Given the description of an element on the screen output the (x, y) to click on. 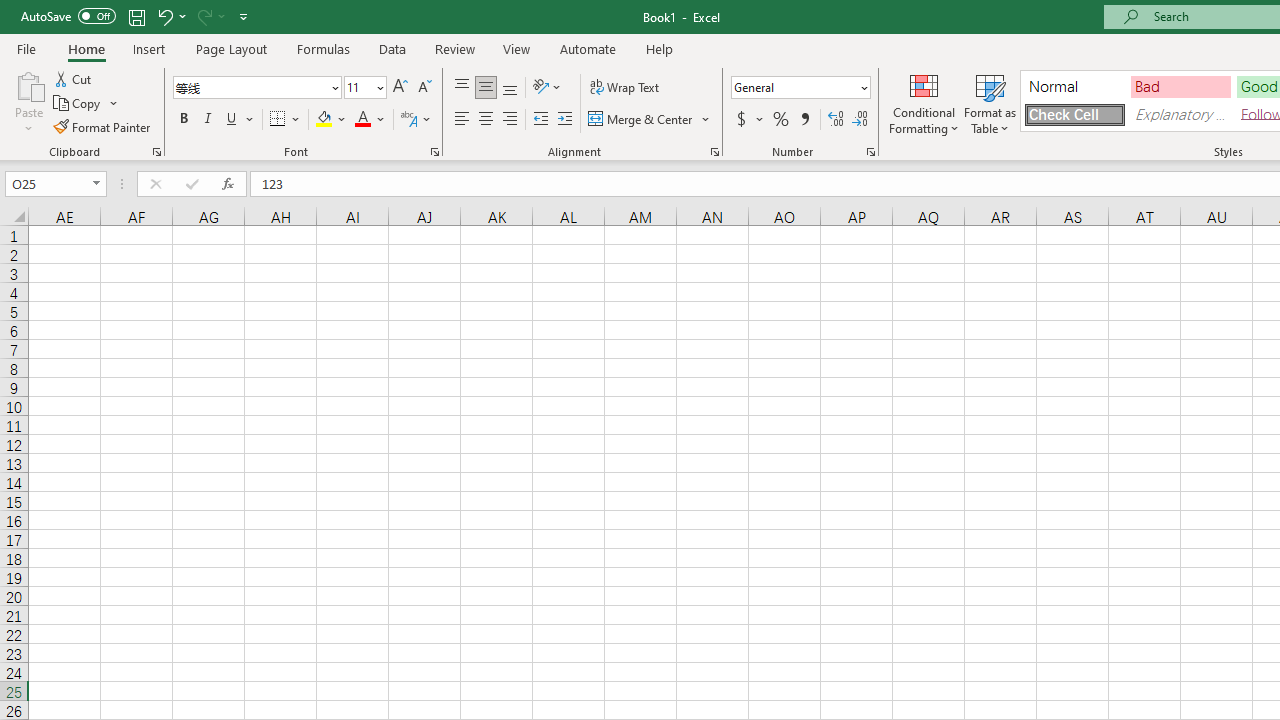
Paste (28, 84)
Align Right (509, 119)
Accounting Number Format (749, 119)
Center (485, 119)
Format as Table (990, 102)
Increase Decimal (836, 119)
Merge & Center (649, 119)
Fill Color (331, 119)
Conditional Formatting (924, 102)
Number Format (800, 87)
Font Size (358, 87)
Increase Indent (565, 119)
